Given the description of an element on the screen output the (x, y) to click on. 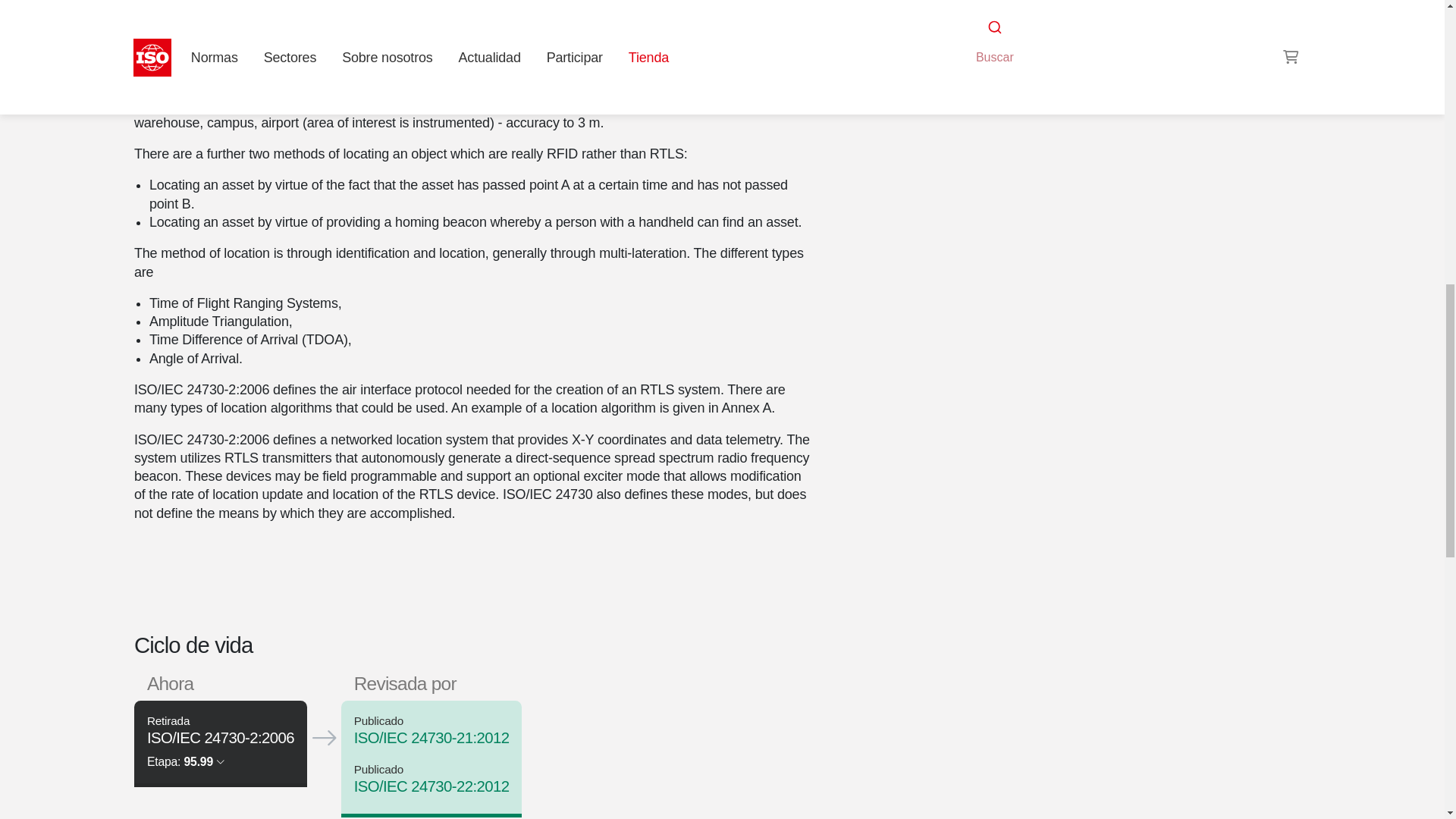
35.040.50 (997, 8)
Automatic identification and data capture techniques (997, 8)
